Given the description of an element on the screen output the (x, y) to click on. 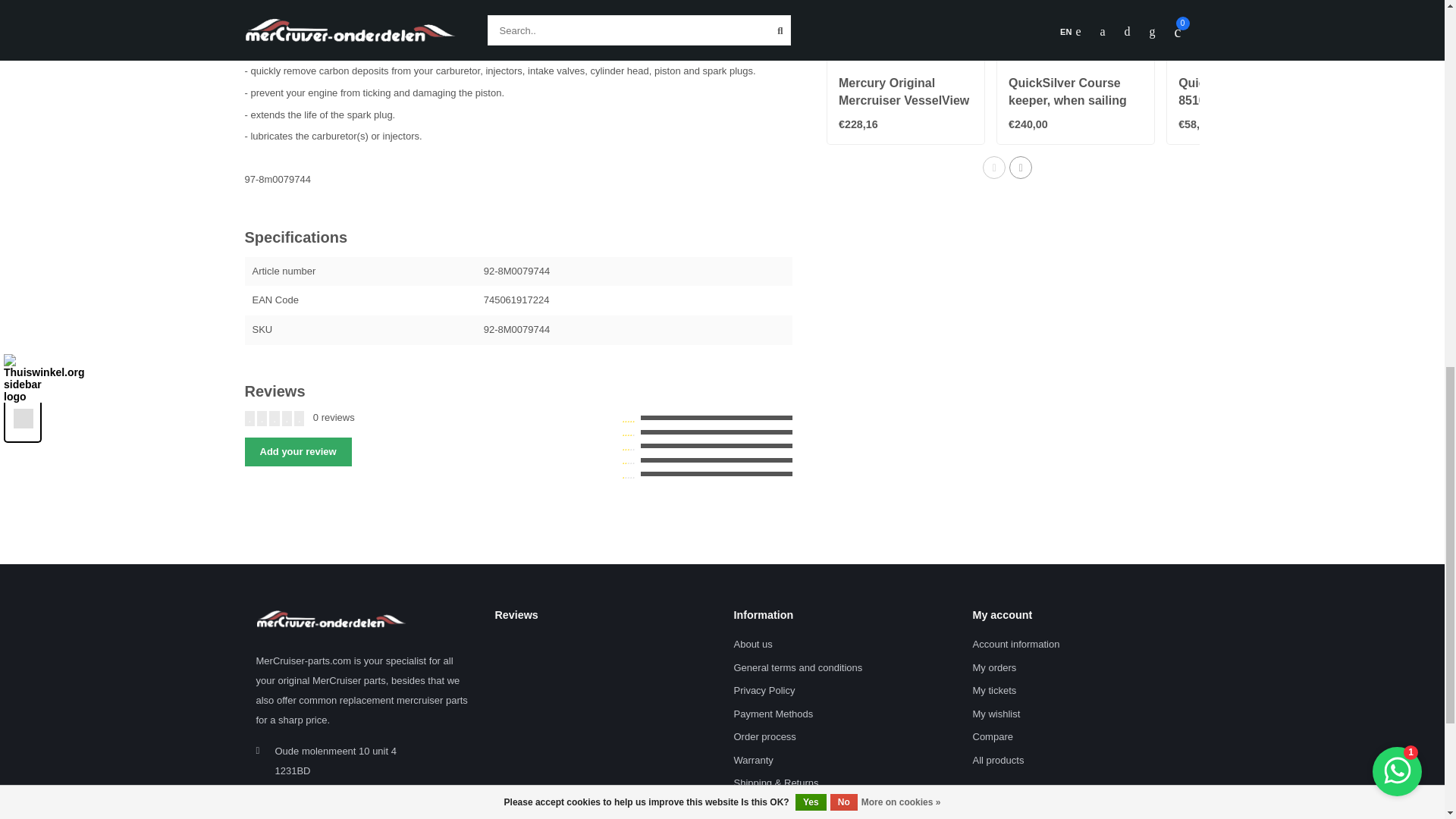
Privacy Policy (763, 690)
Order process (764, 737)
General terms and conditions (798, 668)
About us (753, 644)
Payment Methods (773, 714)
